Given the description of an element on the screen output the (x, y) to click on. 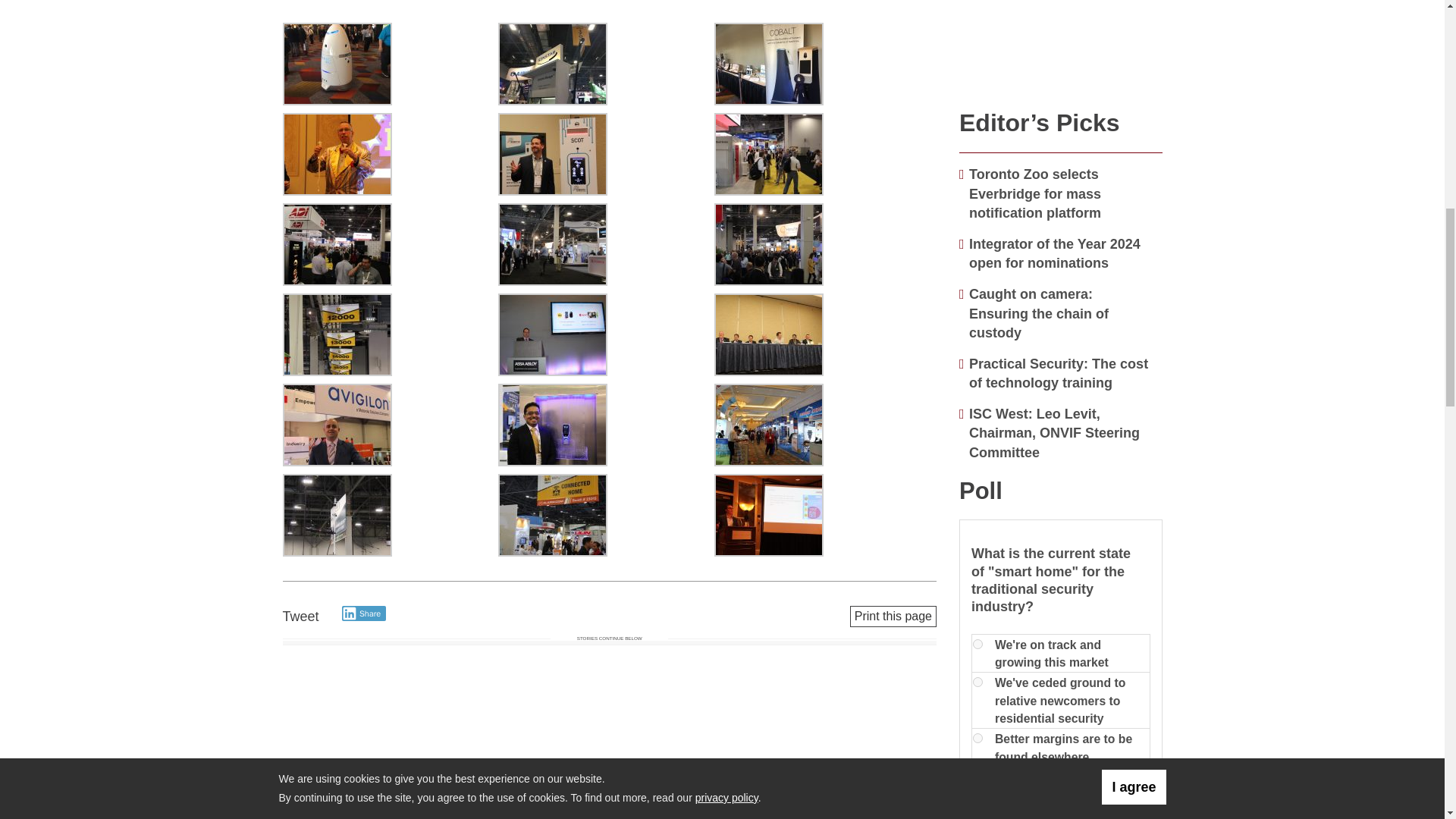
gpoll16eca7826 (977, 682)
gpoll156cbdbc4 (977, 644)
gpoll1ef286767 (977, 737)
3rd party ad content (1060, 47)
gpoll184b400fc (977, 776)
